Given the description of an element on the screen output the (x, y) to click on. 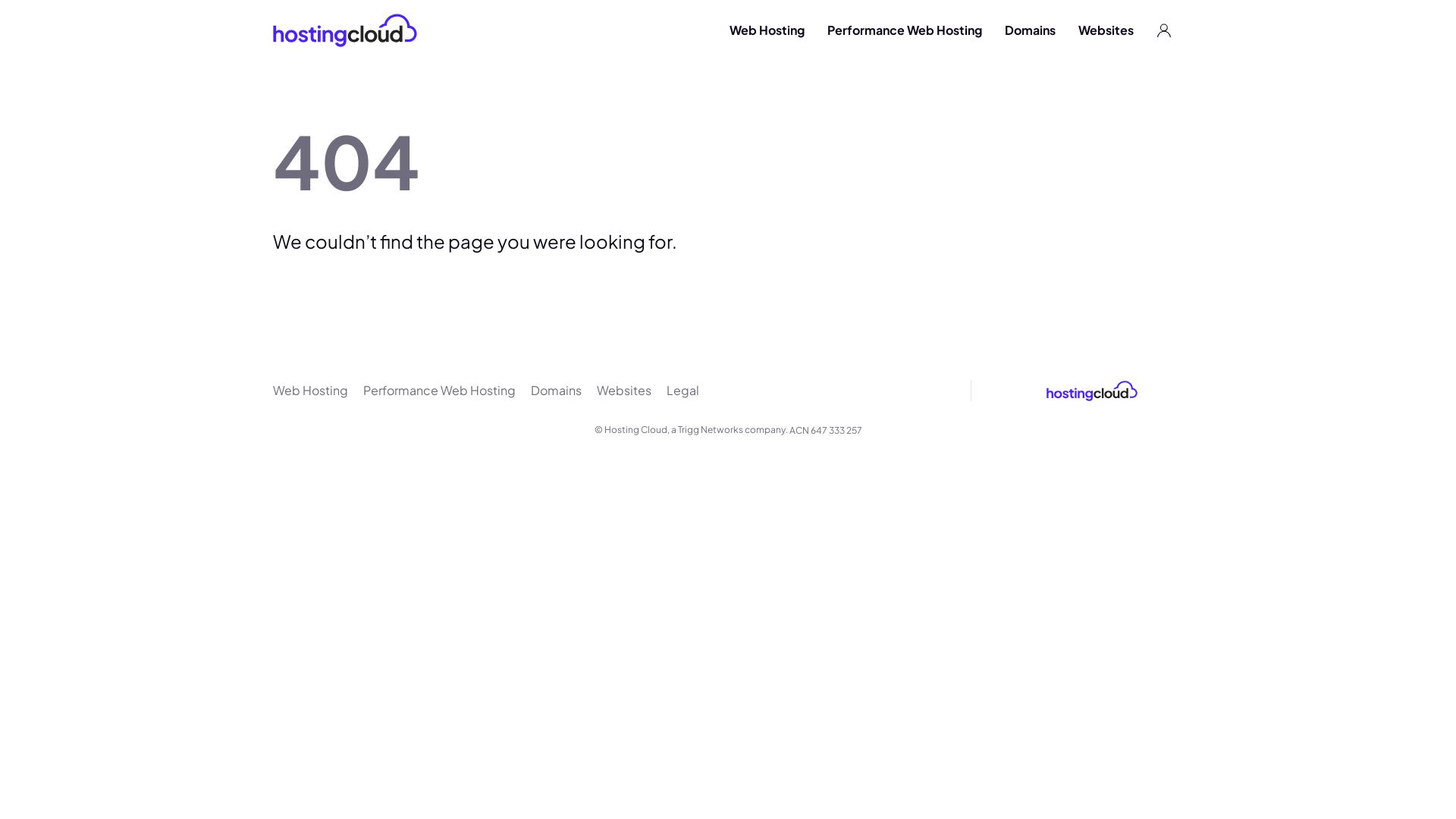
Domains Element type: text (1029, 30)
Websites Element type: text (1105, 30)
Web Hosting Element type: text (310, 390)
Client Area Element type: hover (1163, 29)
Legal Element type: text (682, 390)
Web Hosting Element type: text (766, 30)
Performance Web Hosting Element type: text (439, 390)
Performance Web Hosting Element type: text (904, 30)
Websites Element type: text (623, 390)
Domains Element type: text (555, 390)
